Given the description of an element on the screen output the (x, y) to click on. 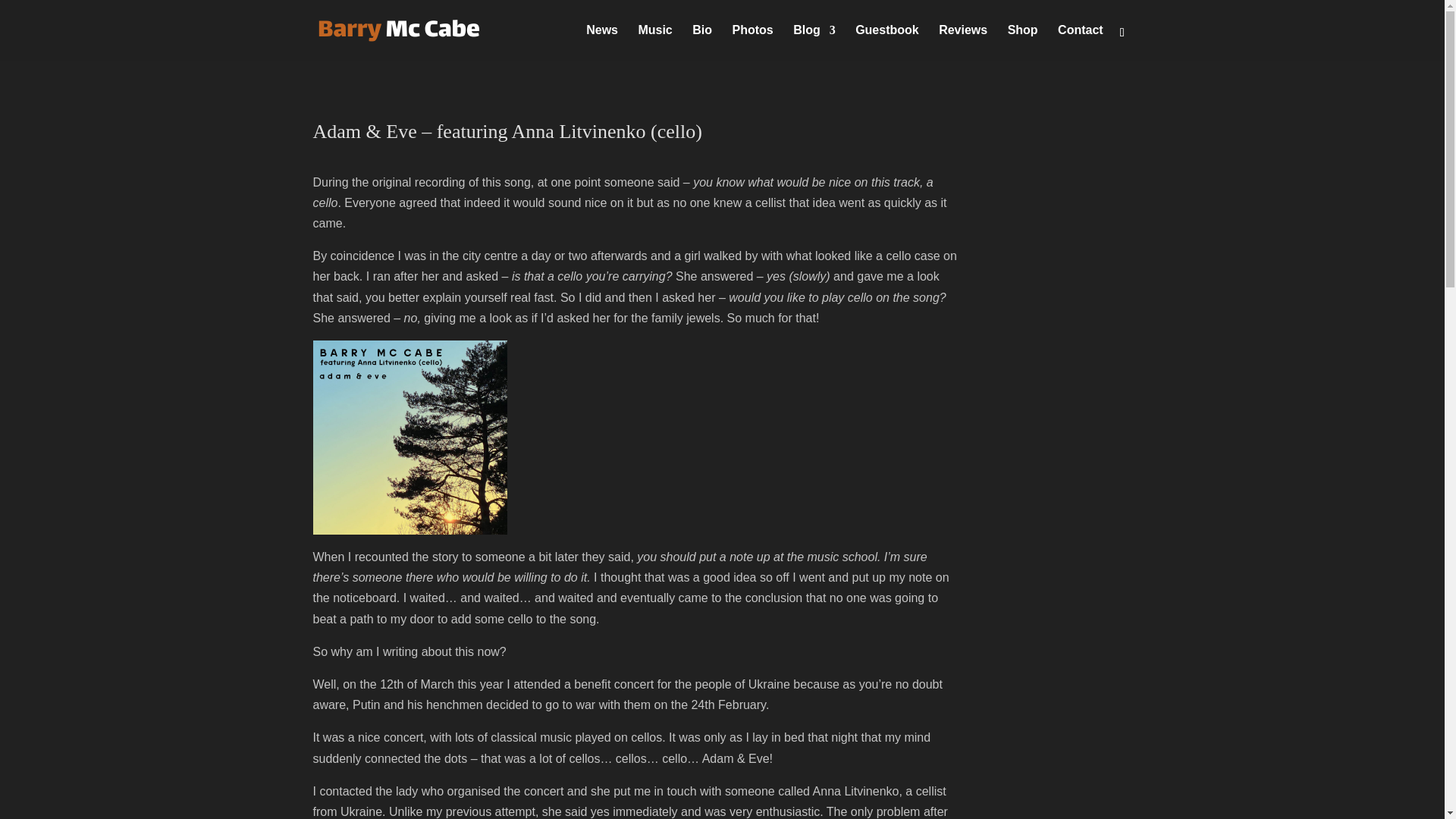
Photos (752, 42)
Reviews (963, 42)
Blog (814, 42)
News (601, 42)
Guestbook (887, 42)
Music (654, 42)
Contact (1080, 42)
